Given the description of an element on the screen output the (x, y) to click on. 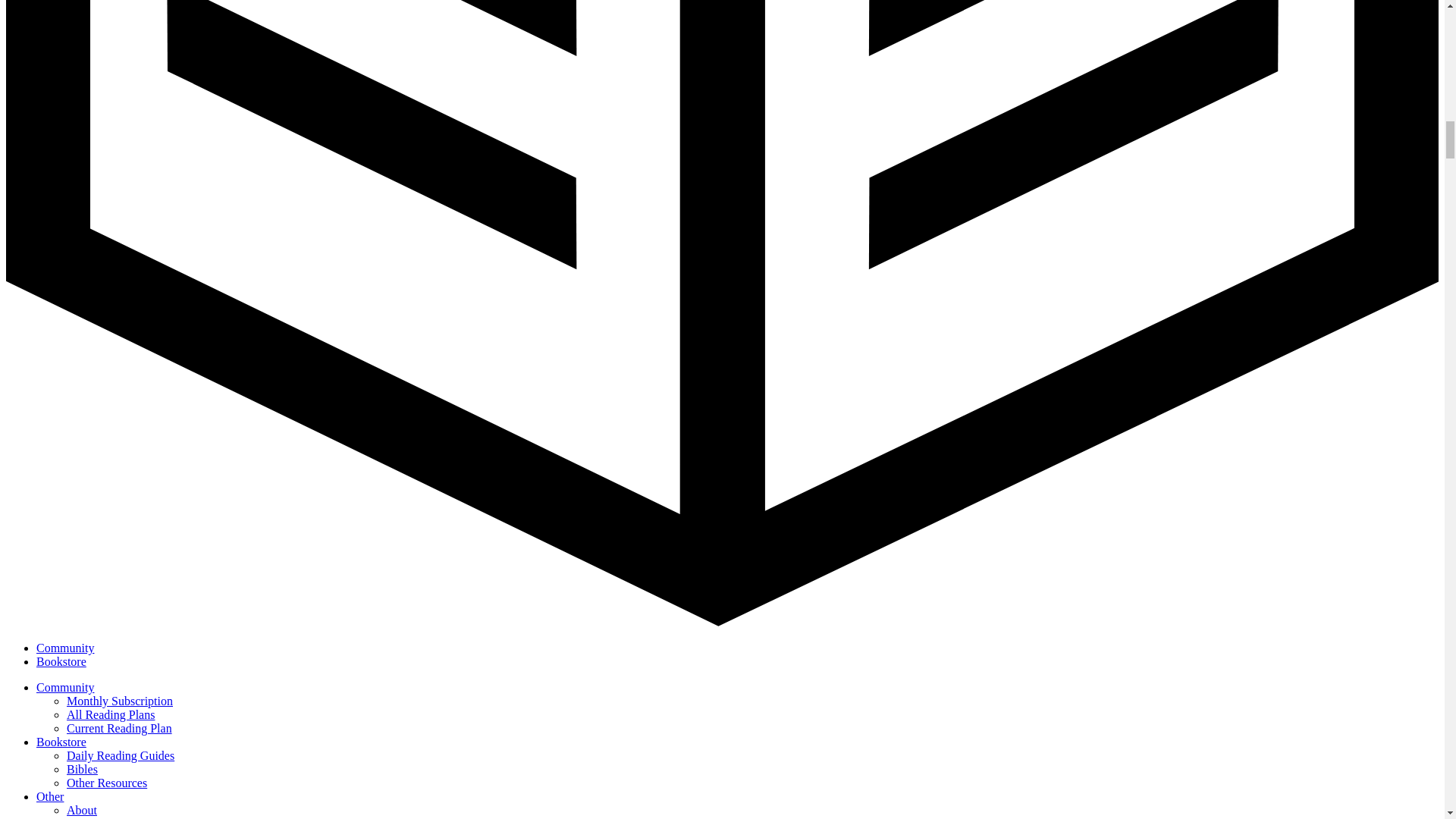
Bibles (81, 768)
Podcast (85, 818)
All Reading Plans (110, 714)
Bookstore (60, 661)
Community (65, 686)
Bookstore (60, 741)
Other (50, 796)
Other Resources (106, 782)
Daily Reading Guides (120, 755)
About (81, 809)
